Given the description of an element on the screen output the (x, y) to click on. 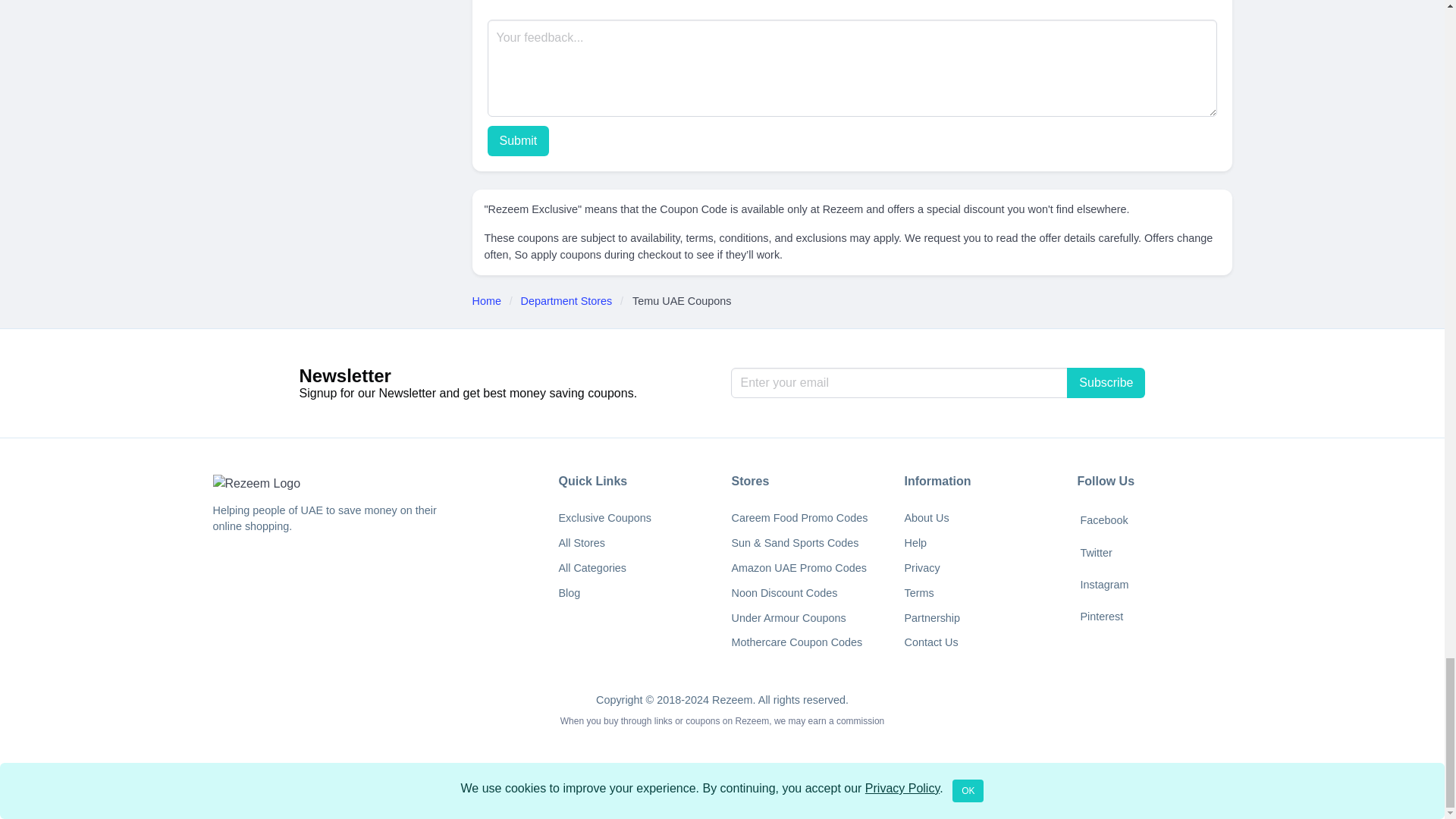
Home (489, 301)
Submit (517, 141)
